Given the description of an element on the screen output the (x, y) to click on. 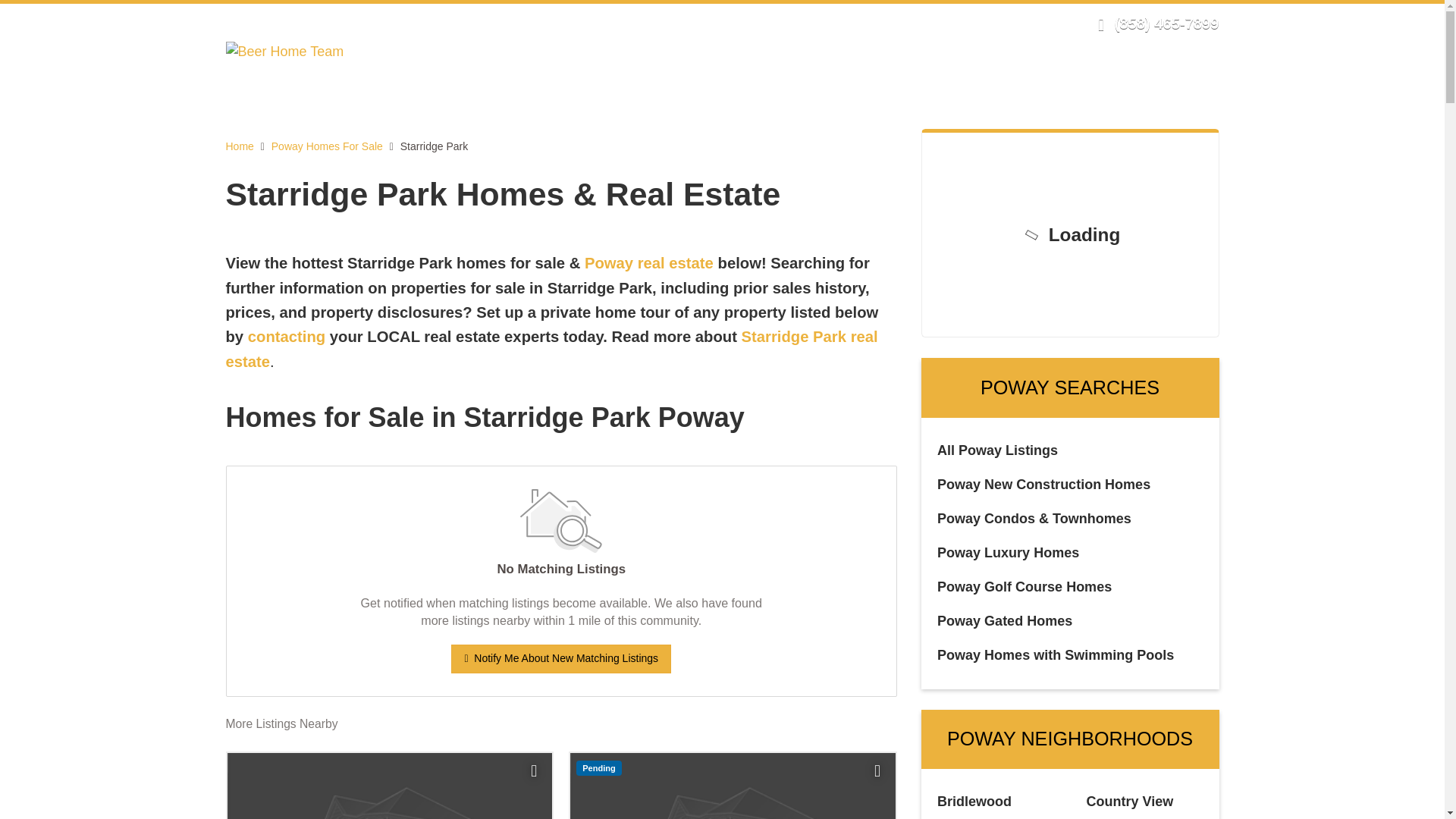
Select Language (1038, 23)
Login (904, 23)
Register (953, 23)
Home Page (284, 50)
